Given the description of an element on the screen output the (x, y) to click on. 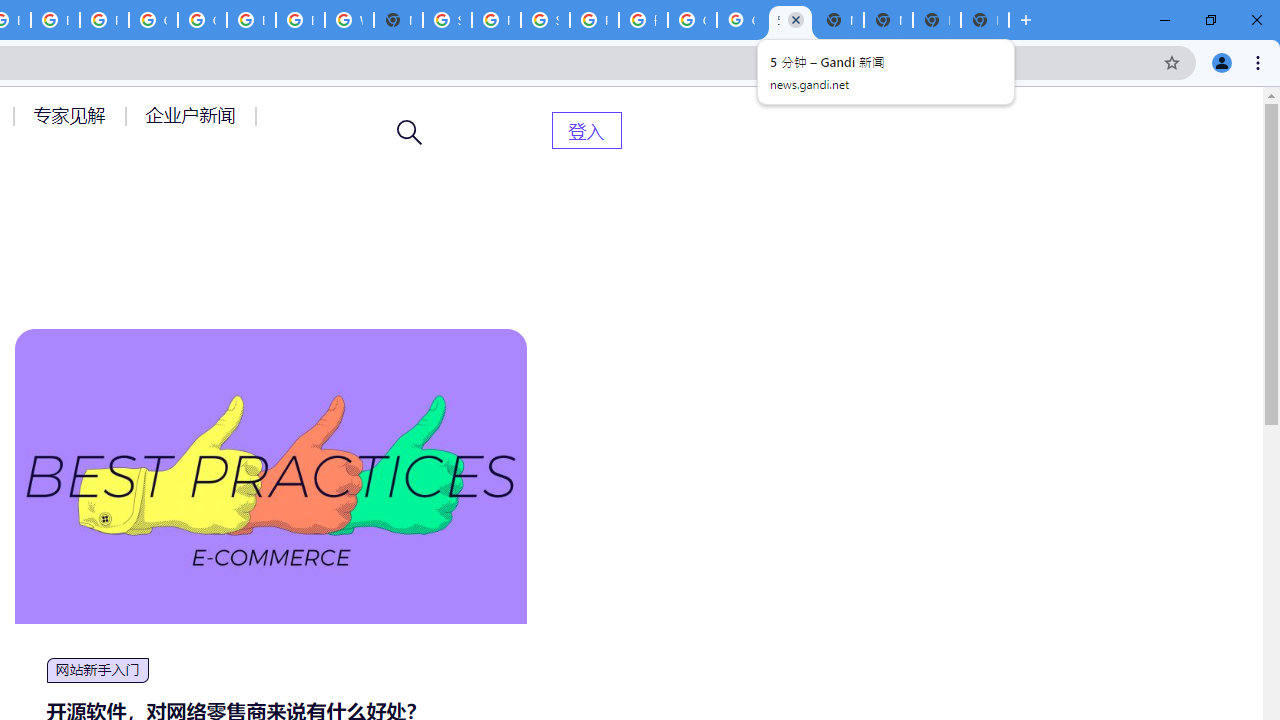
AutomationID: menu-item-77764 (72, 115)
